Given the description of an element on the screen output the (x, y) to click on. 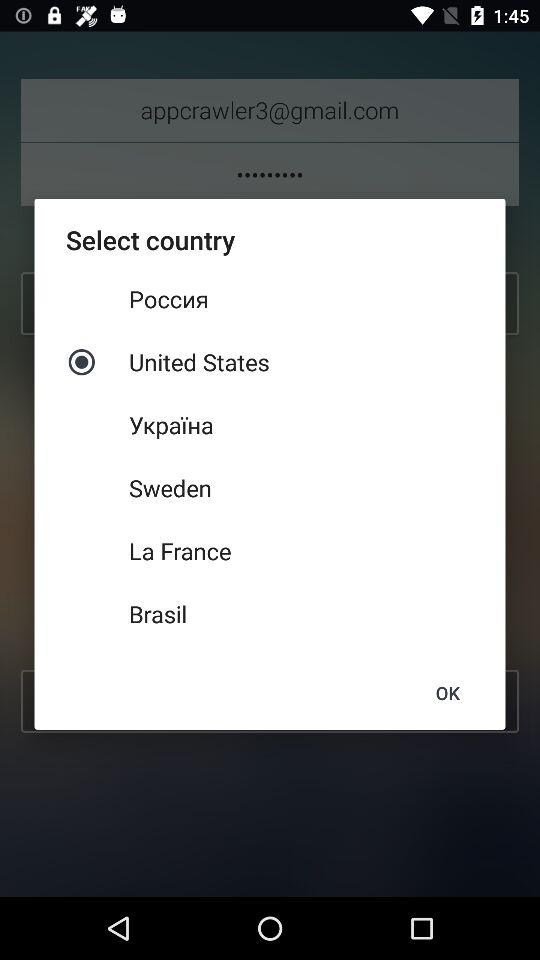
click the ok icon (447, 692)
